Given the description of an element on the screen output the (x, y) to click on. 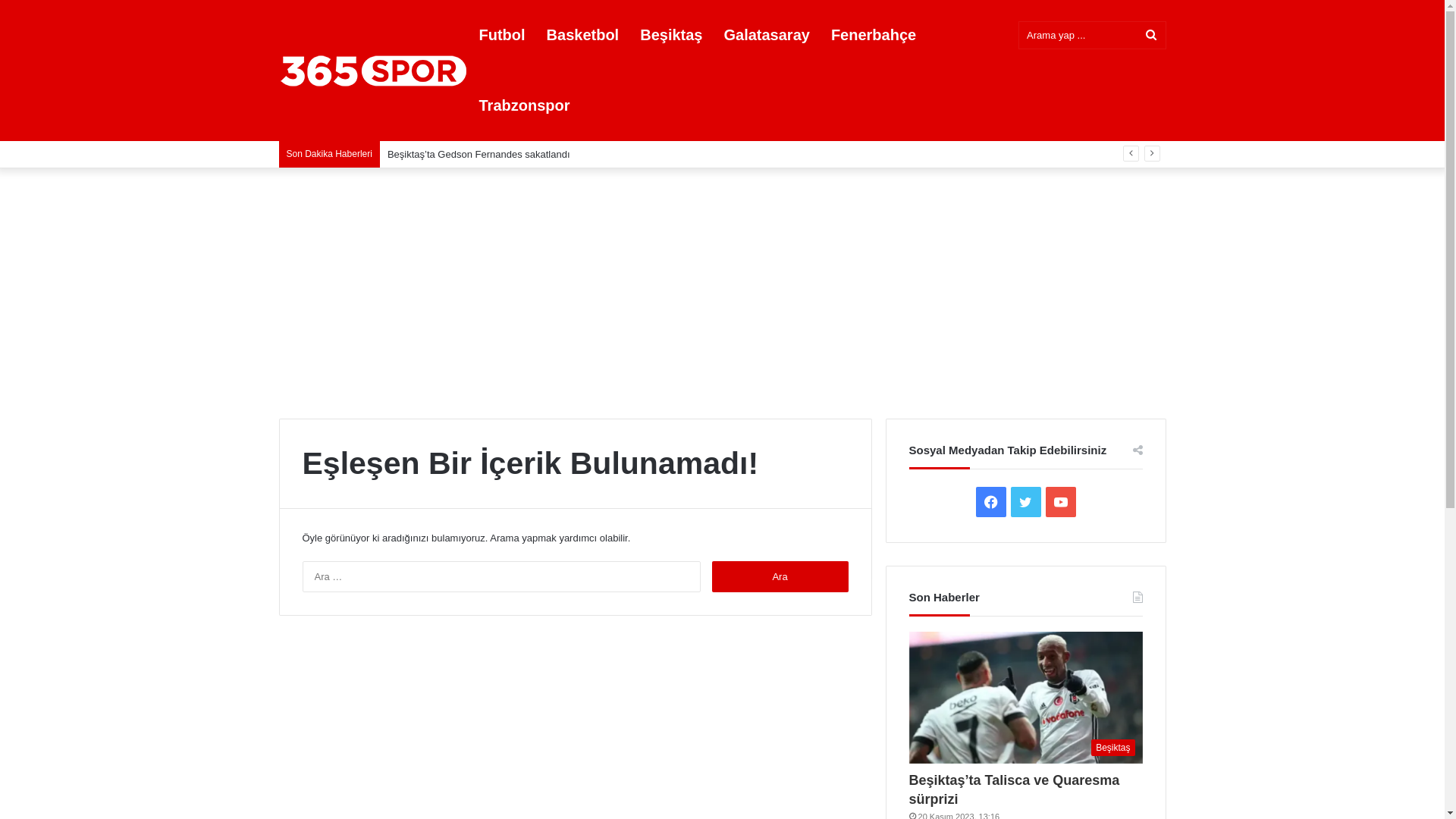
Basketbol Element type: text (583, 35)
YouTube Element type: text (1059, 501)
Arama yap ... Element type: text (1150, 35)
Trabzonspor Element type: text (524, 105)
Futbol Element type: text (502, 35)
Twitter Element type: text (1025, 501)
Advertisement Element type: hover (721, 289)
Ara Element type: text (779, 576)
Galatasaray Element type: text (765, 35)
Arama yap ... Element type: hover (1091, 35)
365 Spor Element type: hover (373, 70)
Facebook Element type: text (990, 501)
